Given the description of an element on the screen output the (x, y) to click on. 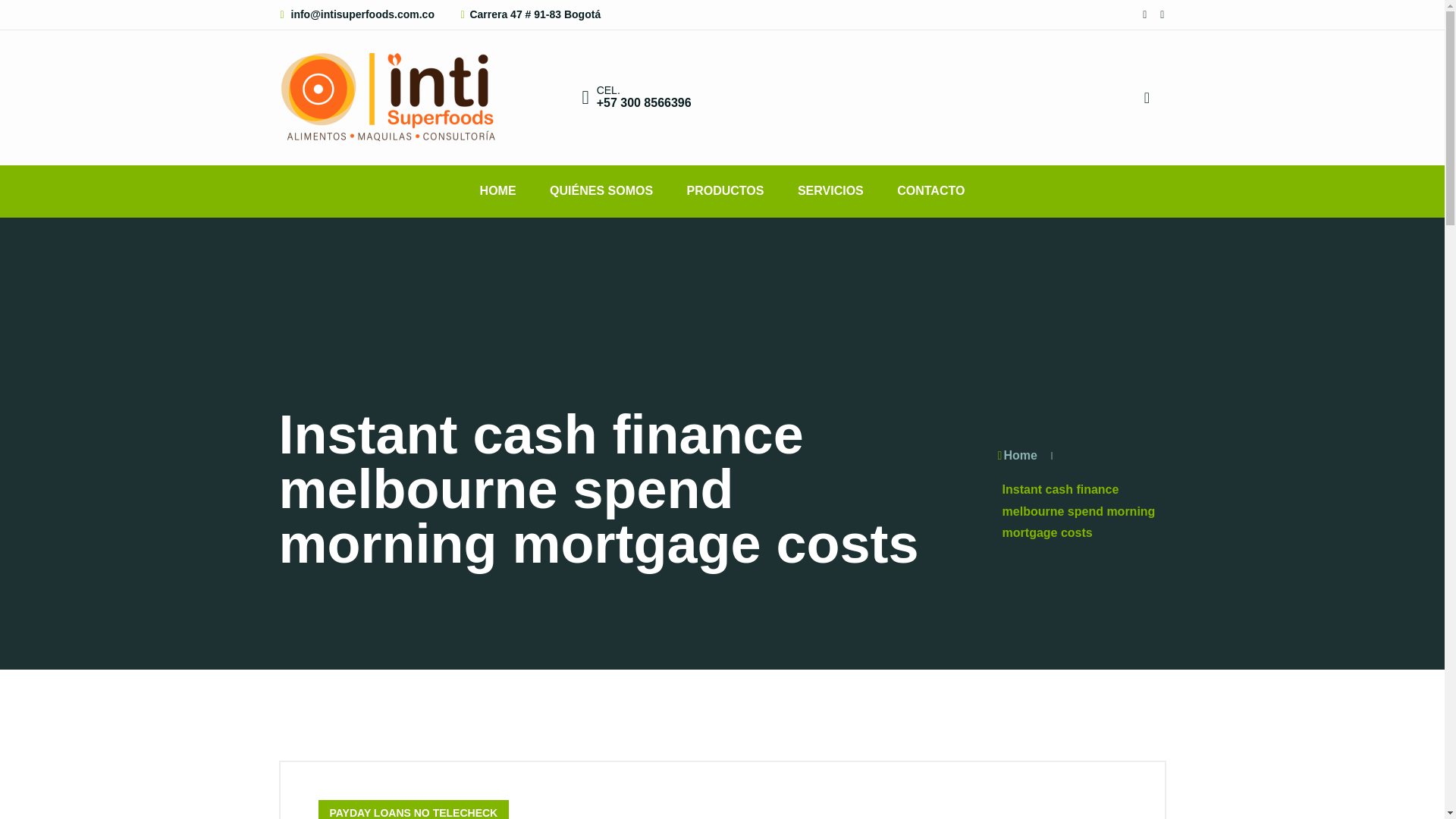
CONTACTO (930, 191)
PRODUCTOS (725, 191)
PAYDAY LOANS NO TELECHECK (413, 809)
SERVICIOS (830, 191)
SERVICIOS (830, 191)
Home (1015, 454)
HOME (497, 191)
HOME (497, 191)
PRODUCTOS (725, 191)
CONTACTO (930, 191)
